Given the description of an element on the screen output the (x, y) to click on. 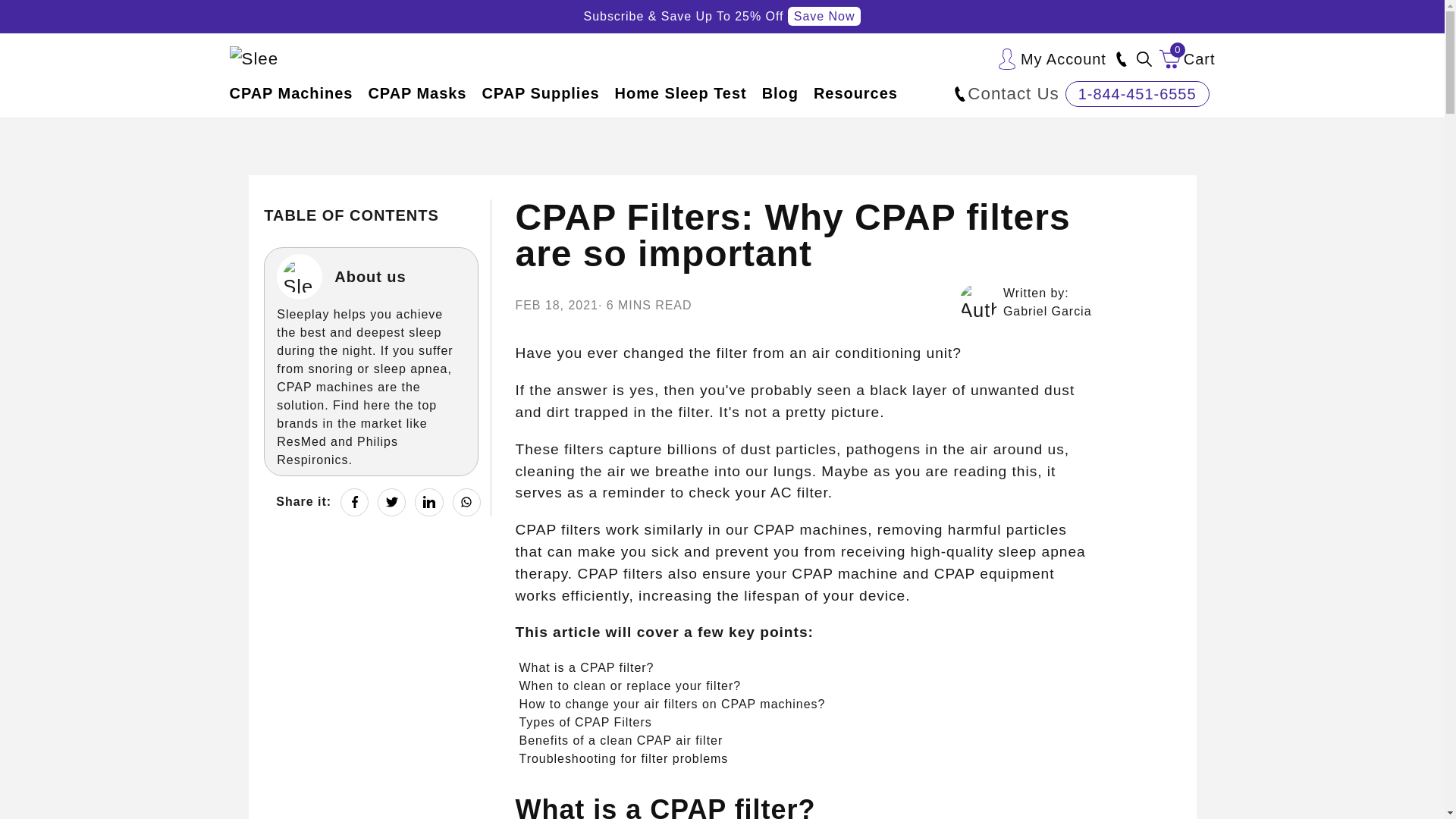
Skip to content (1186, 58)
Save Now (35, 18)
